Given the description of an element on the screen output the (x, y) to click on. 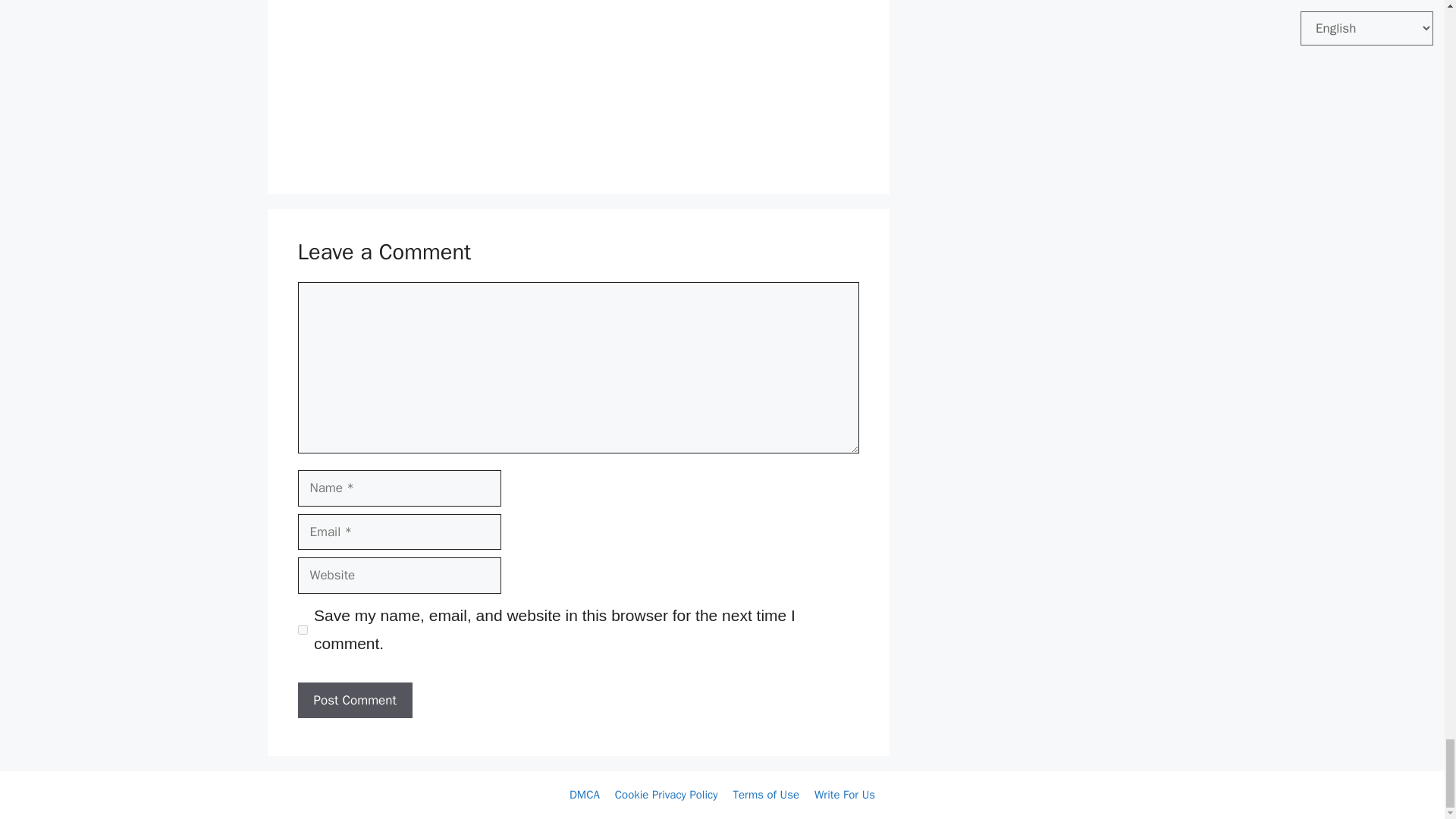
Terms of Use (766, 794)
yes (302, 629)
Cookie Privacy Policy (665, 794)
Write For Us (844, 794)
Post Comment (354, 700)
DMCA (584, 794)
Post Comment (354, 700)
